Given the description of an element on the screen output the (x, y) to click on. 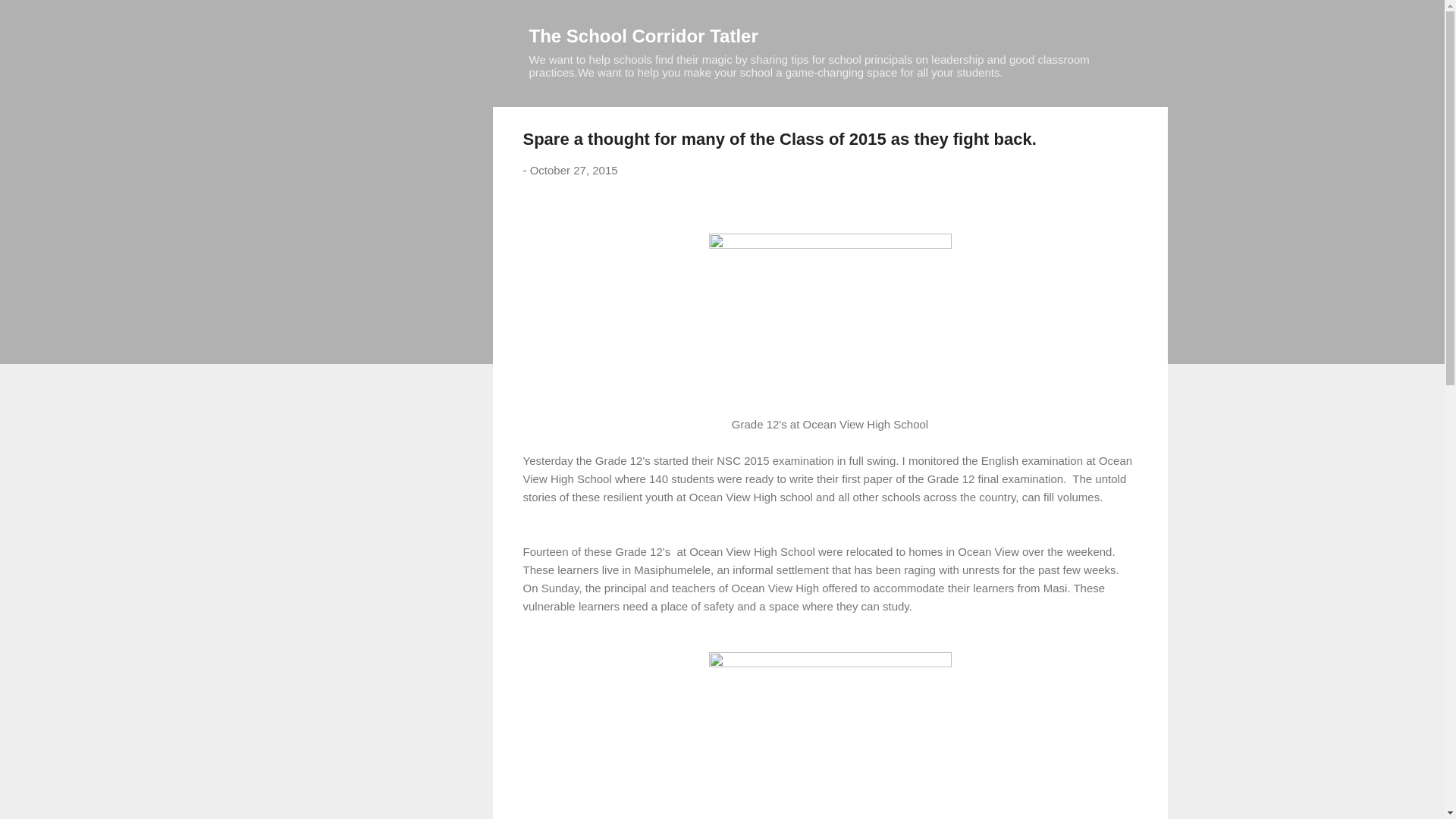
permanent link (573, 169)
Search (29, 18)
The School Corridor Tatler (643, 35)
October 27, 2015 (573, 169)
